Given the description of an element on the screen output the (x, y) to click on. 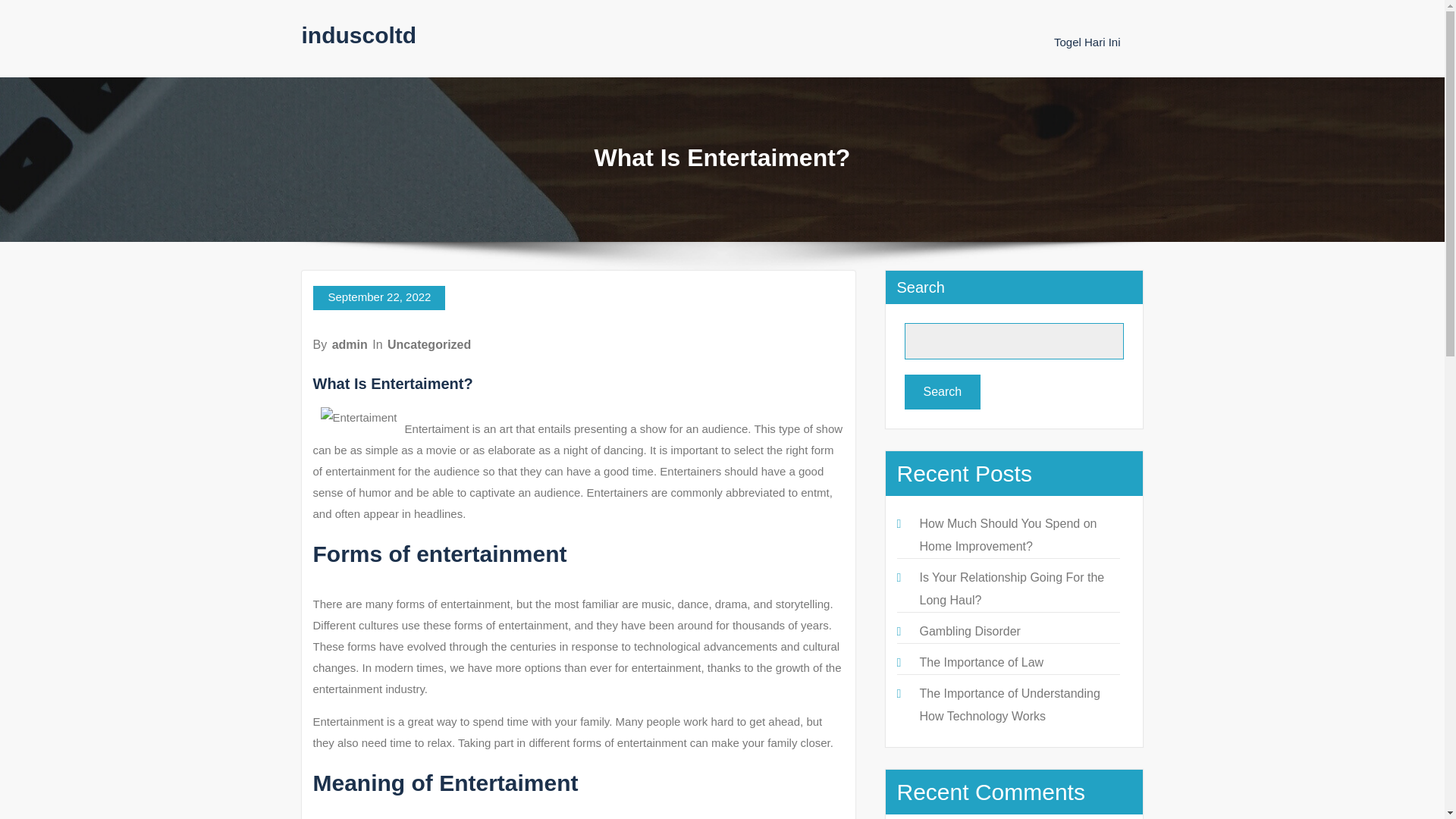
The Importance of Law (980, 662)
Uncategorized (428, 344)
admin (349, 344)
Gambling Disorder (969, 631)
Search (941, 391)
The Importance of Understanding How Technology Works (1008, 704)
Togel Hari Ini (1087, 41)
How Much Should You Spend on Home Improvement? (1007, 534)
induscoltd (358, 34)
September 22, 2022 (379, 297)
Is Your Relationship Going For the Long Haul? (1010, 588)
